Given the description of an element on the screen output the (x, y) to click on. 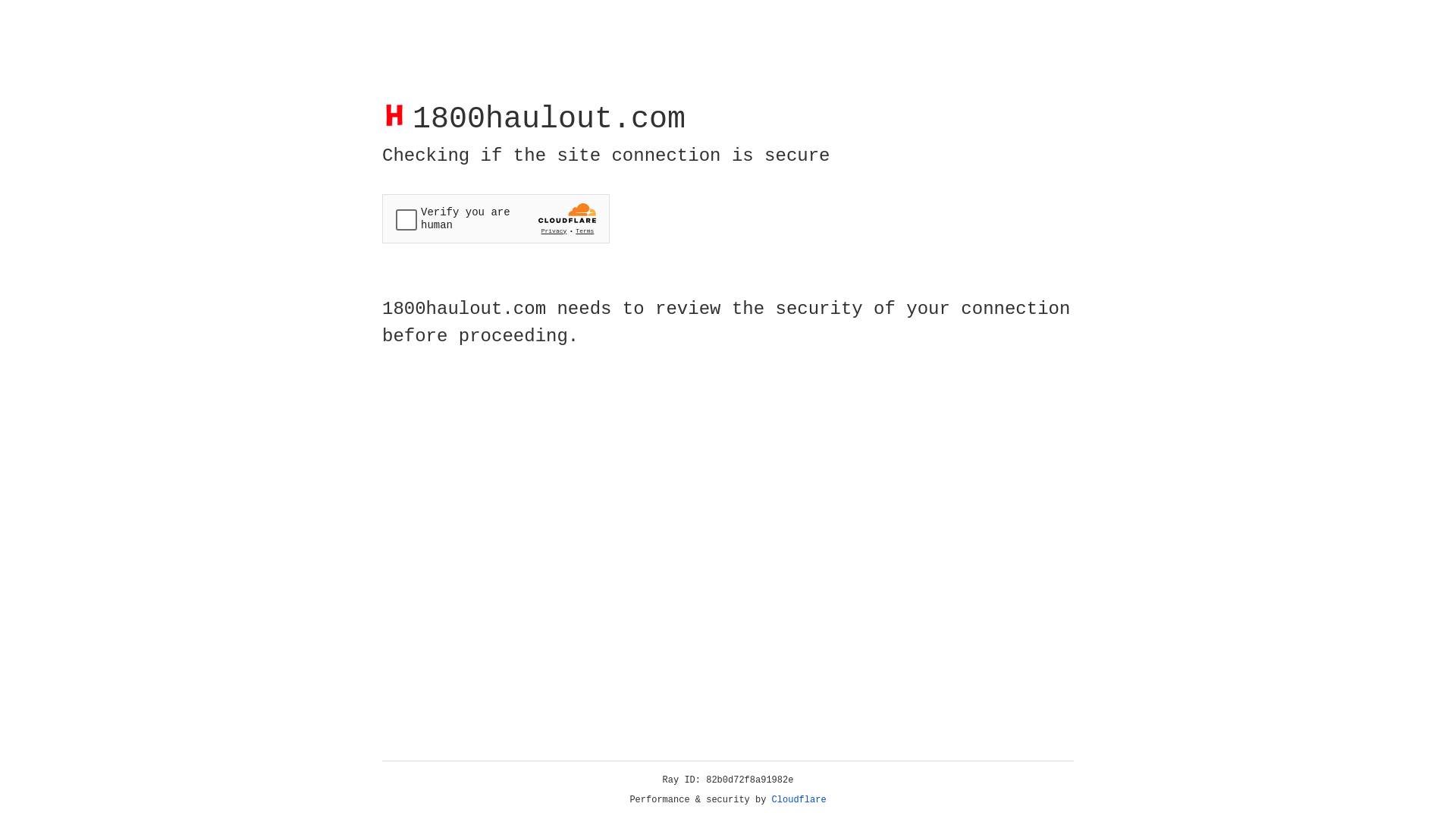
Cloudflare Element type: text (798, 799)
Widget containing a Cloudflare security challenge Element type: hover (495, 218)
